Given the description of an element on the screen output the (x, y) to click on. 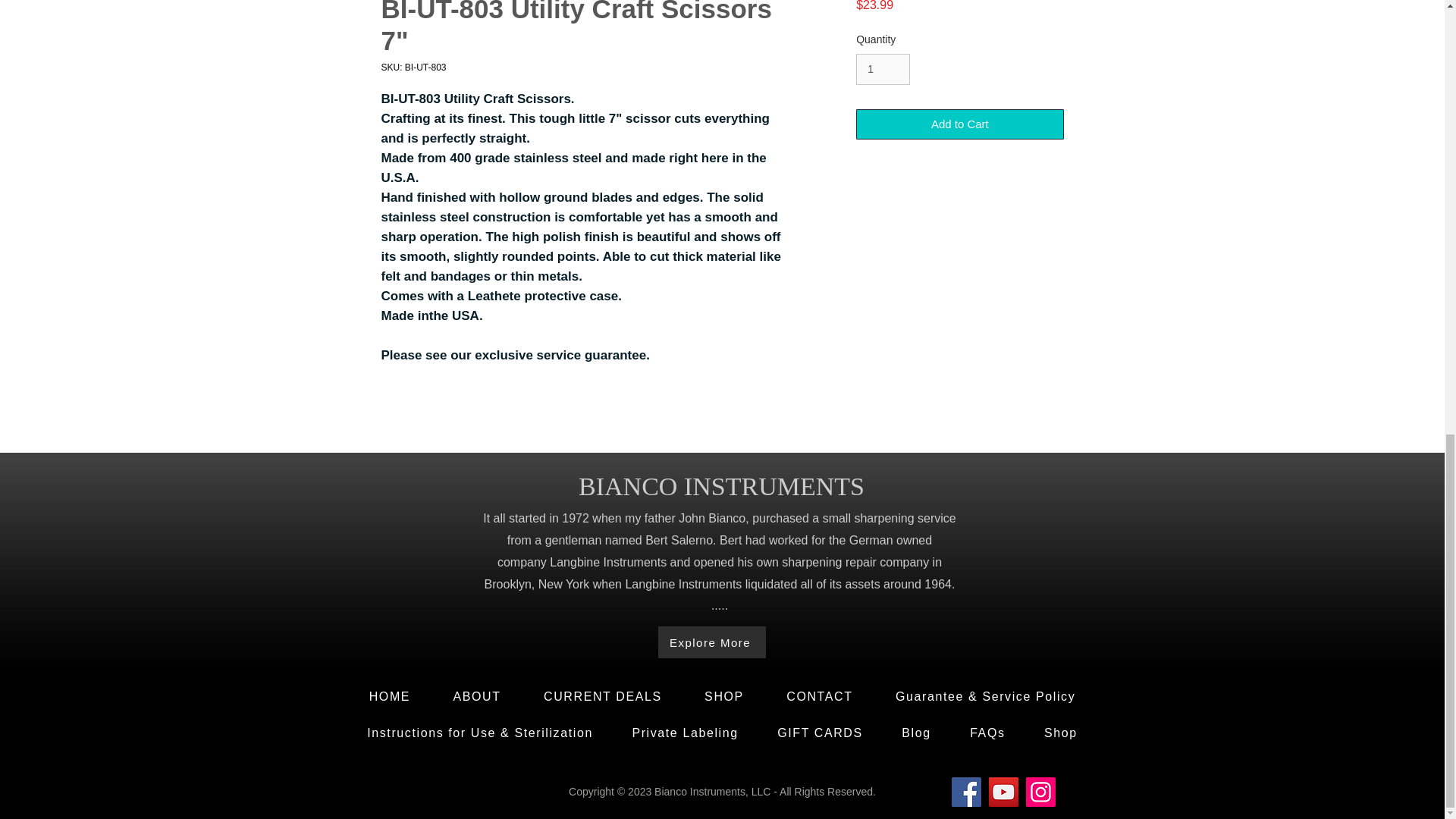
1 (883, 69)
